Given the description of an element on the screen output the (x, y) to click on. 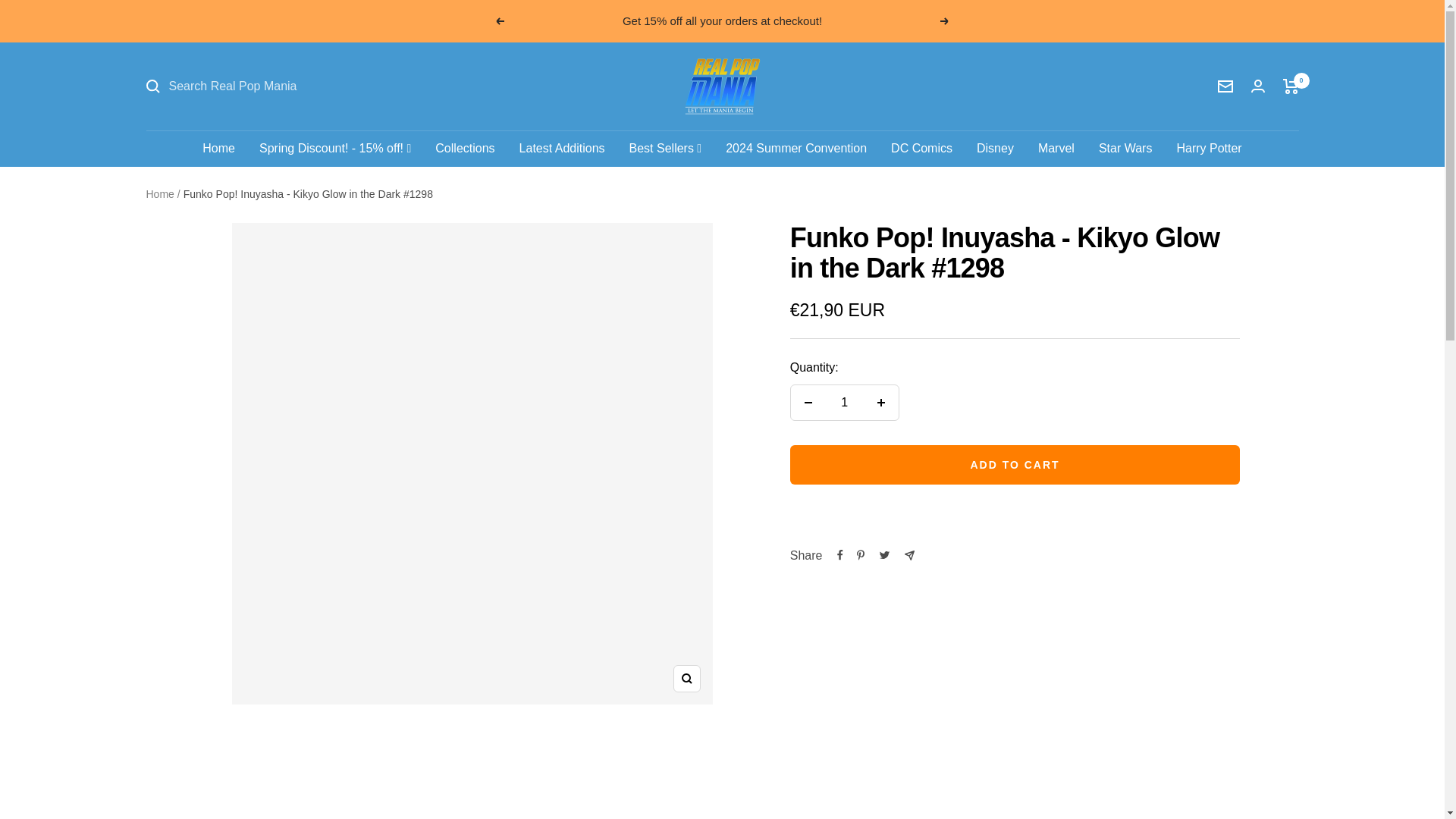
Real Pop Mania (722, 86)
2024 Summer Convention (795, 148)
Latest Additions (562, 148)
Marvel (1056, 148)
Newsletter (1225, 86)
DC Comics (921, 148)
Star Wars (1126, 148)
Next (944, 21)
Home (218, 148)
Previous (499, 21)
